Given the description of an element on the screen output the (x, y) to click on. 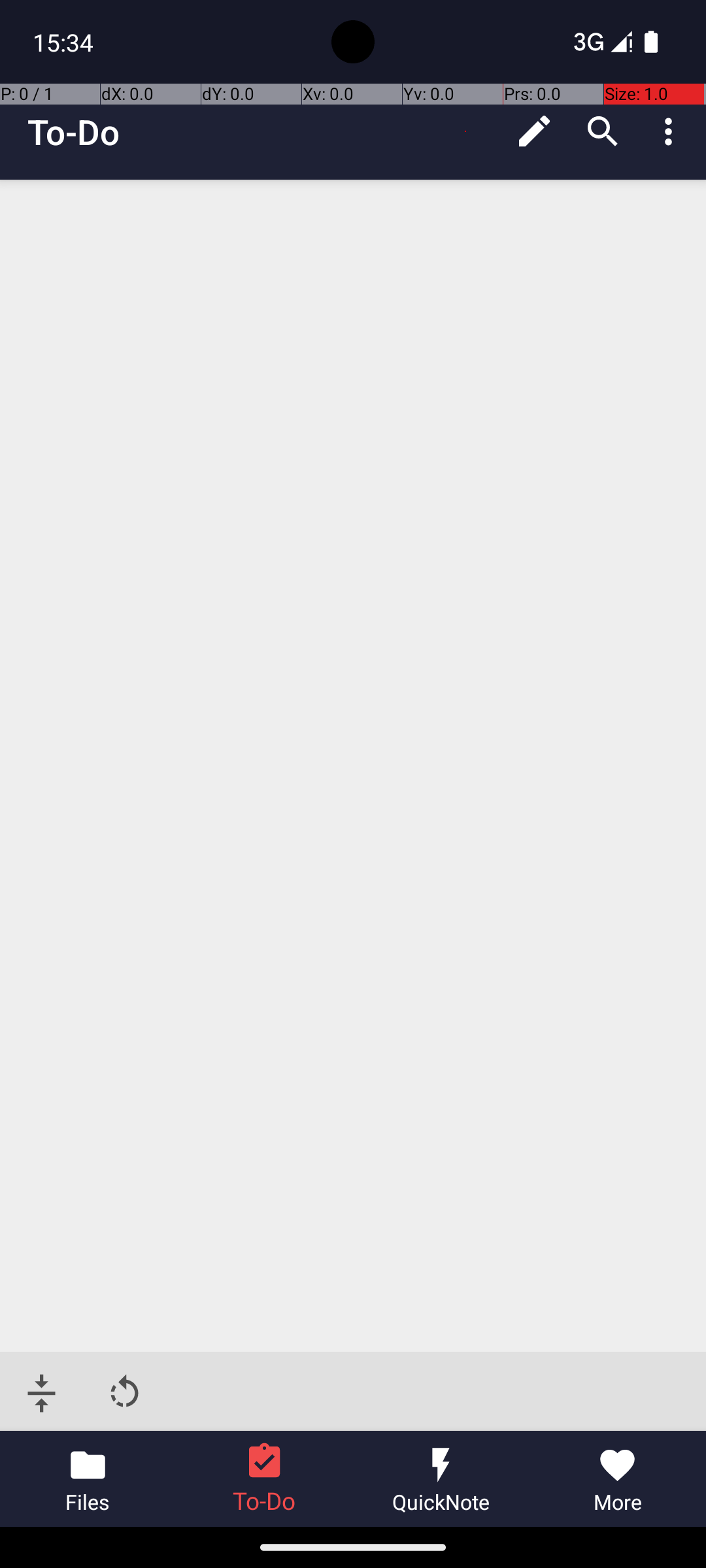
Edit mode Element type: android.widget.TextView (534, 131)
Jump to bottom Element type: android.widget.ImageView (41, 1392)
Rotate Element type: android.widget.ImageView (124, 1392)
